Given the description of an element on the screen output the (x, y) to click on. 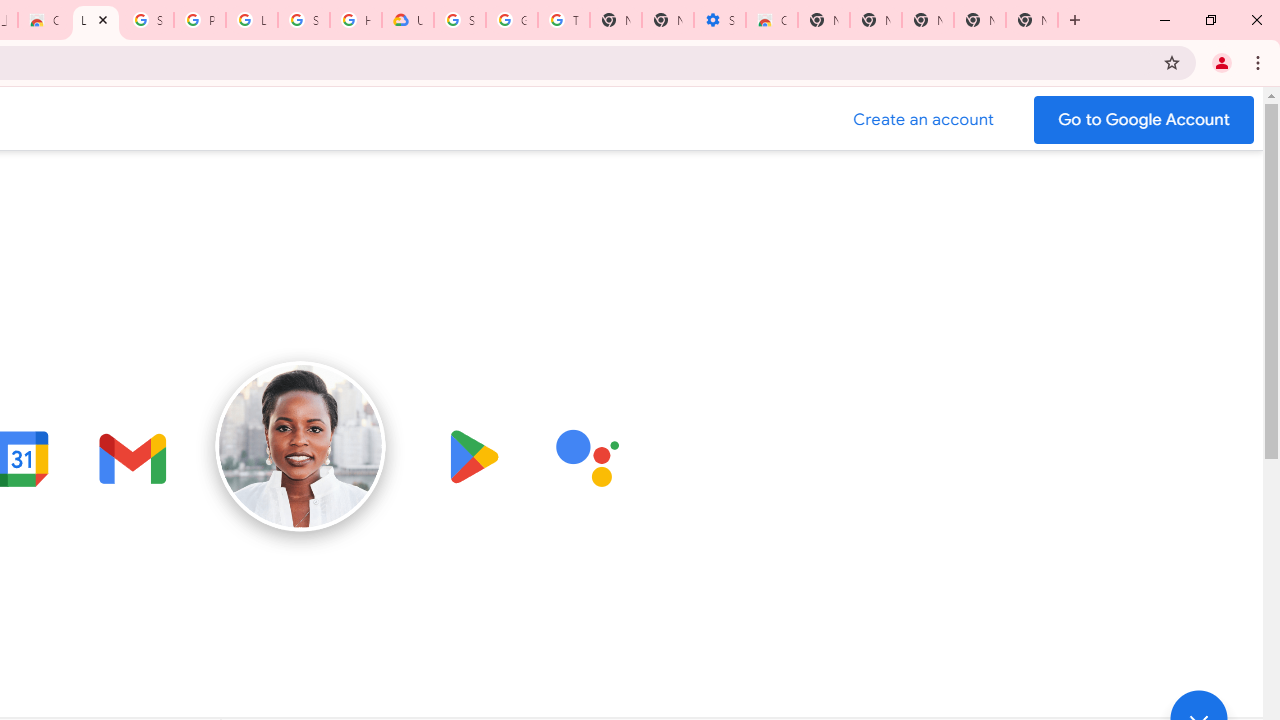
Chrome Web Store - Accessibility extensions (771, 20)
Turn cookies on or off - Computer - Google Account Help (563, 20)
New Tab (823, 20)
Chrome Web Store - Household (43, 20)
Go to your Google Account (1144, 119)
Settings - Accessibility (719, 20)
